Given the description of an element on the screen output the (x, y) to click on. 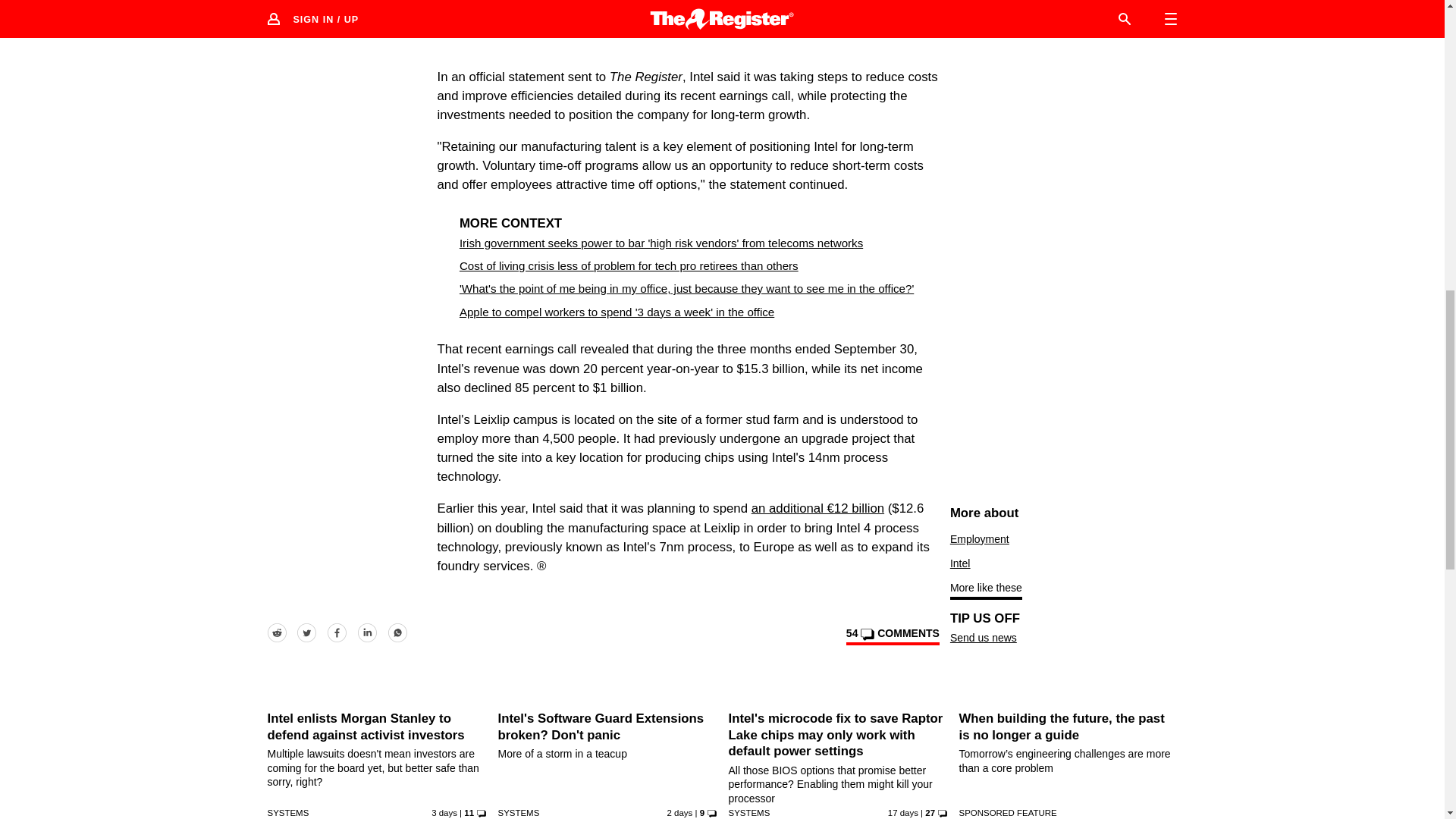
View comments on this article (892, 636)
12 Aug 2024 20:35 (903, 812)
27 Aug 2024 19:59 (679, 812)
26 Aug 2024 17:30 (443, 812)
